Given the description of an element on the screen output the (x, y) to click on. 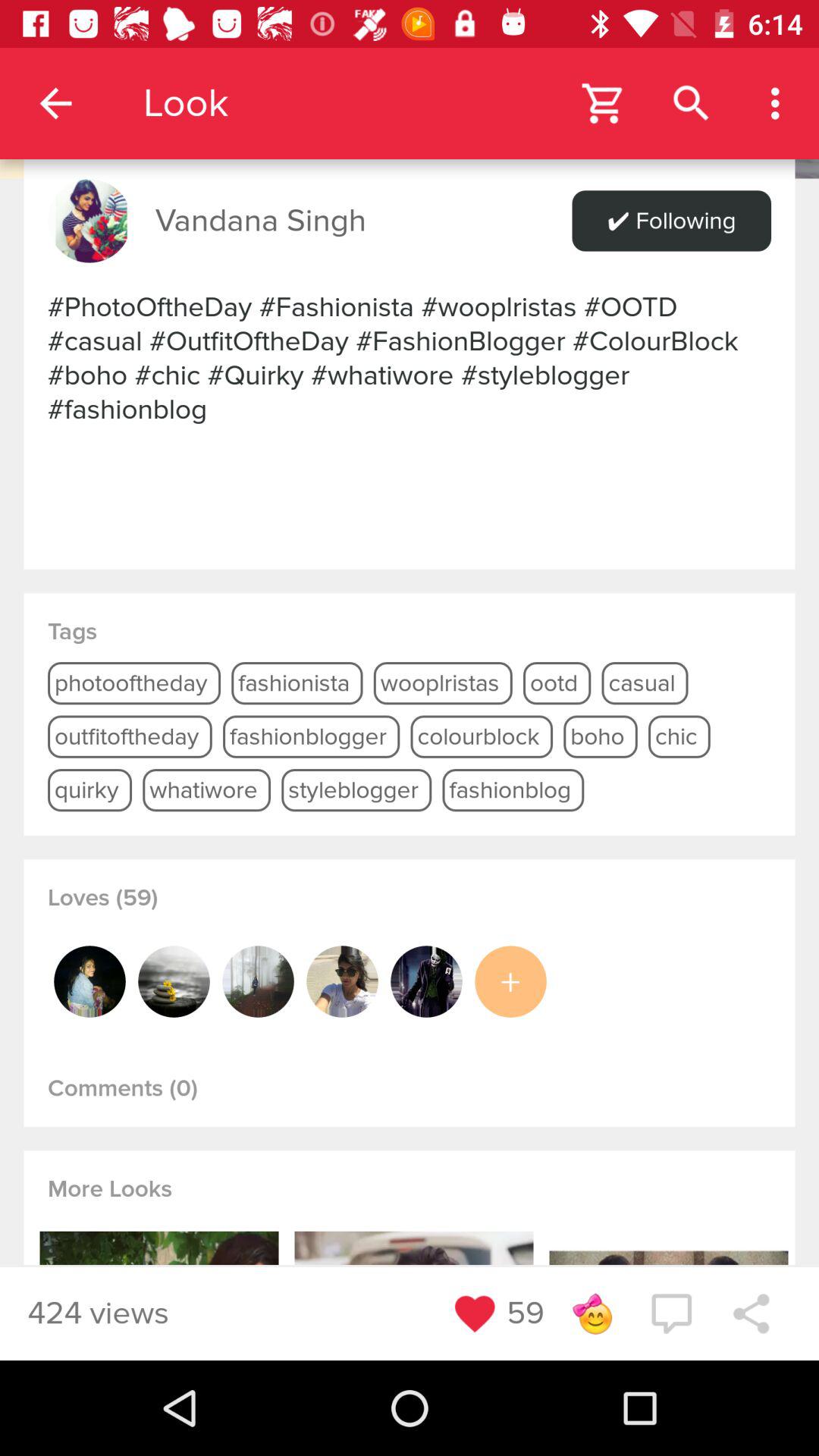
choose the item to the right of the vandana singh item (671, 220)
